Given the description of an element on the screen output the (x, y) to click on. 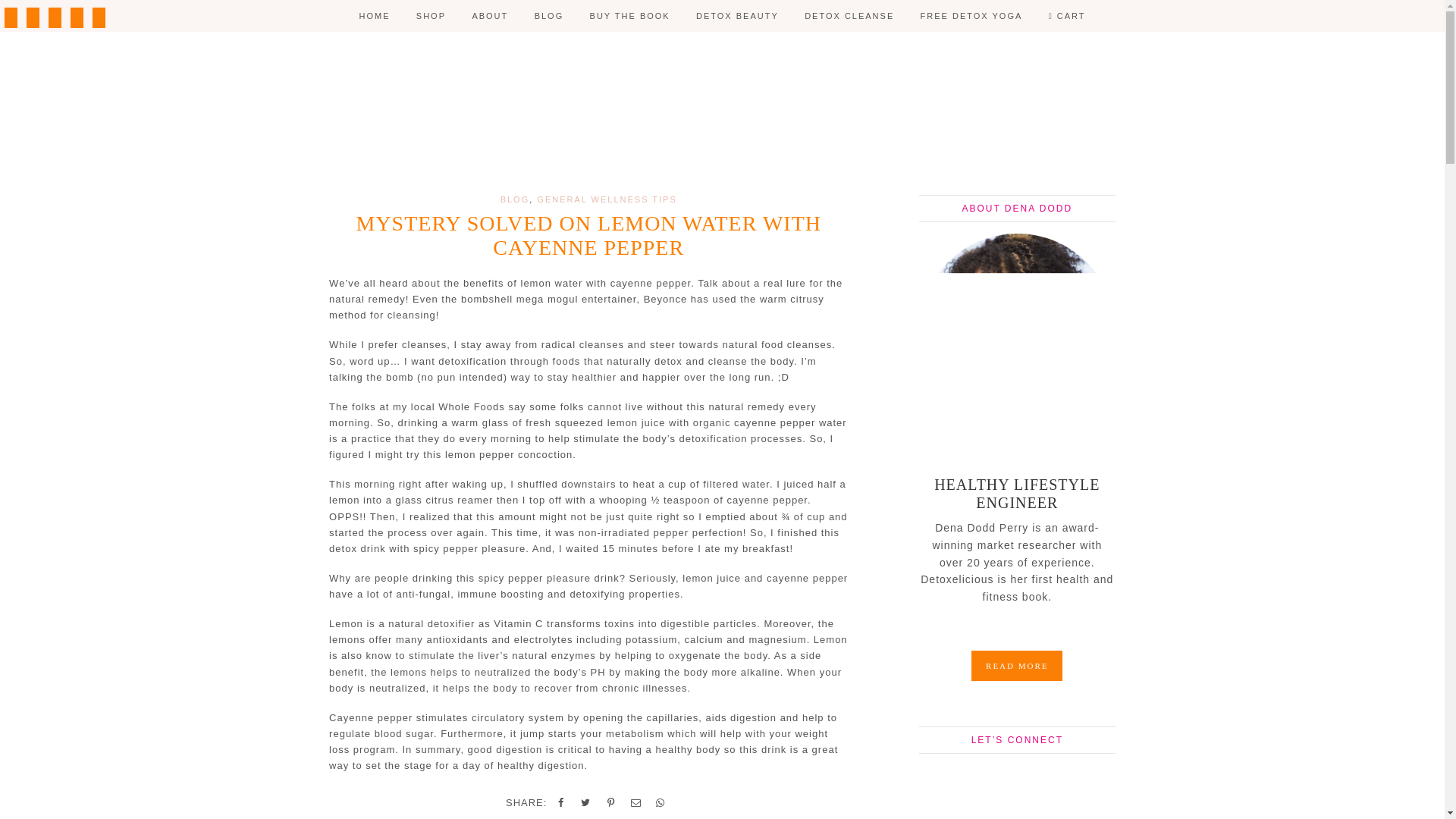
CART (1066, 15)
SHOP (430, 15)
DETOX BEAUTY (737, 15)
FREE DETOX YOGA (970, 15)
BUY THE BOOK (629, 15)
DETOX CLEANSE (849, 15)
HOME (374, 15)
BLOG (548, 15)
GENERAL WELLNESS TIPS (607, 198)
Dena Dodd (722, 107)
